Given the description of an element on the screen output the (x, y) to click on. 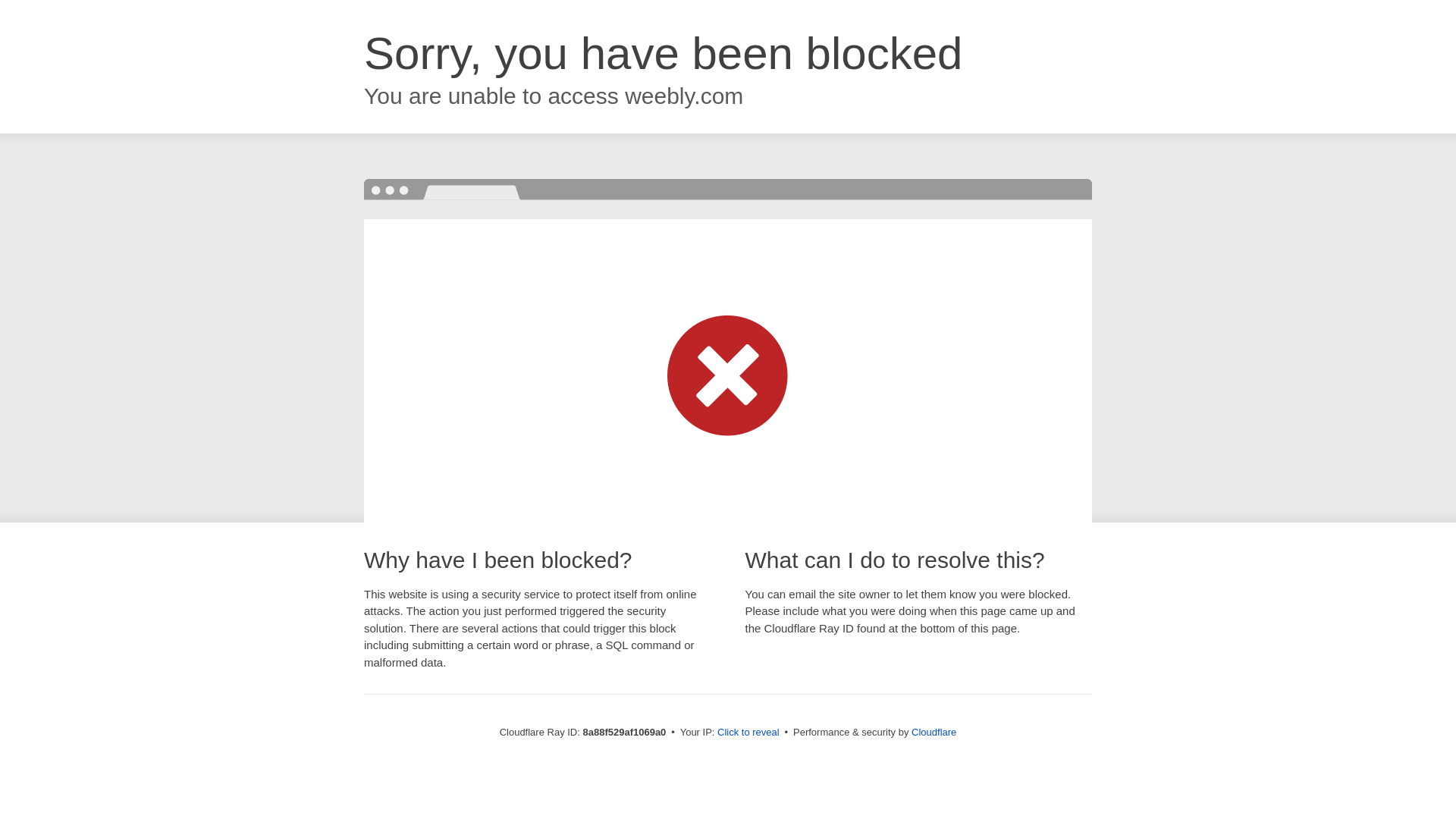
Cloudflare (933, 731)
Click to reveal (747, 732)
